Given the description of an element on the screen output the (x, y) to click on. 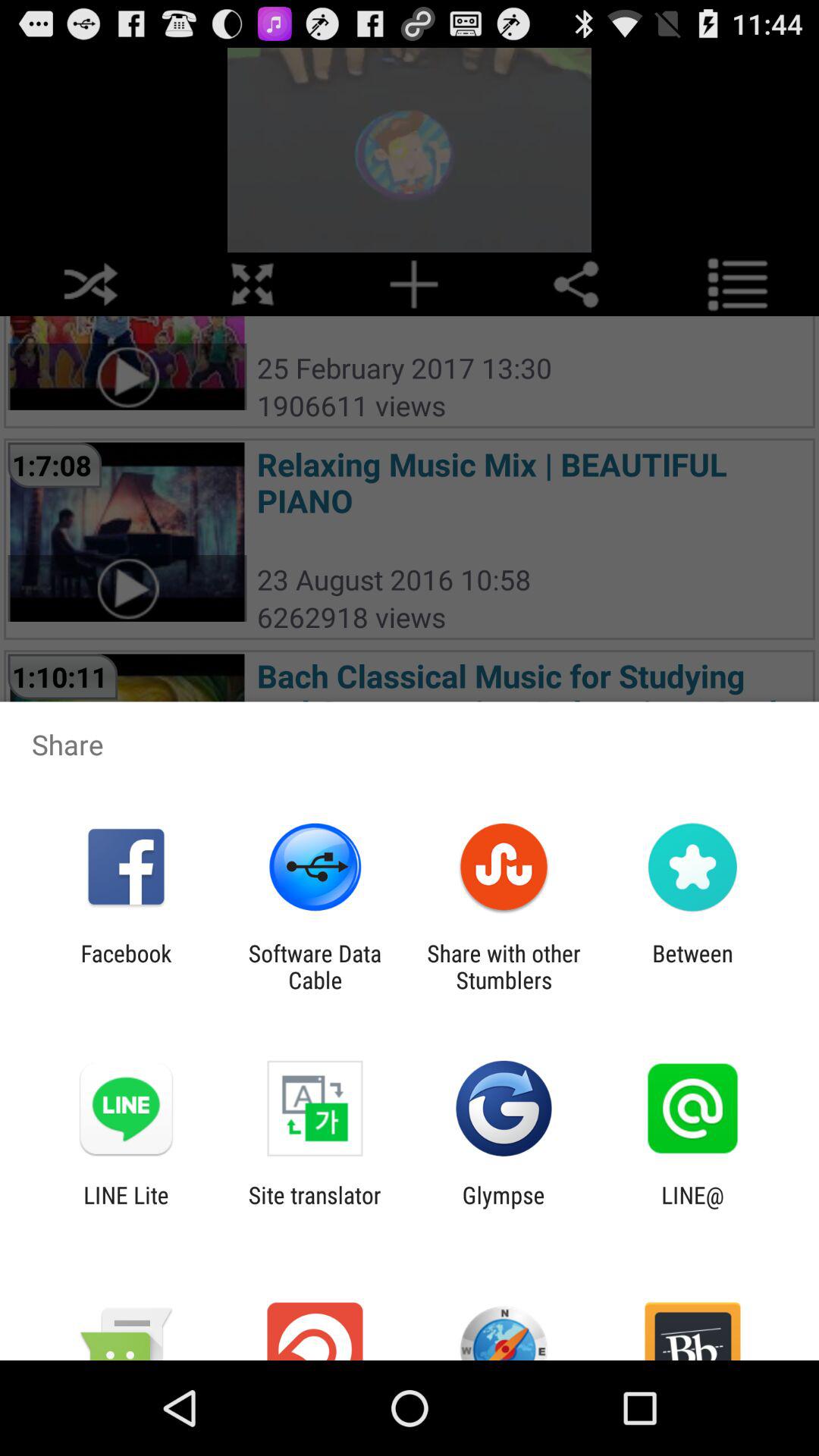
flip to software data cable app (314, 966)
